Given the description of an element on the screen output the (x, y) to click on. 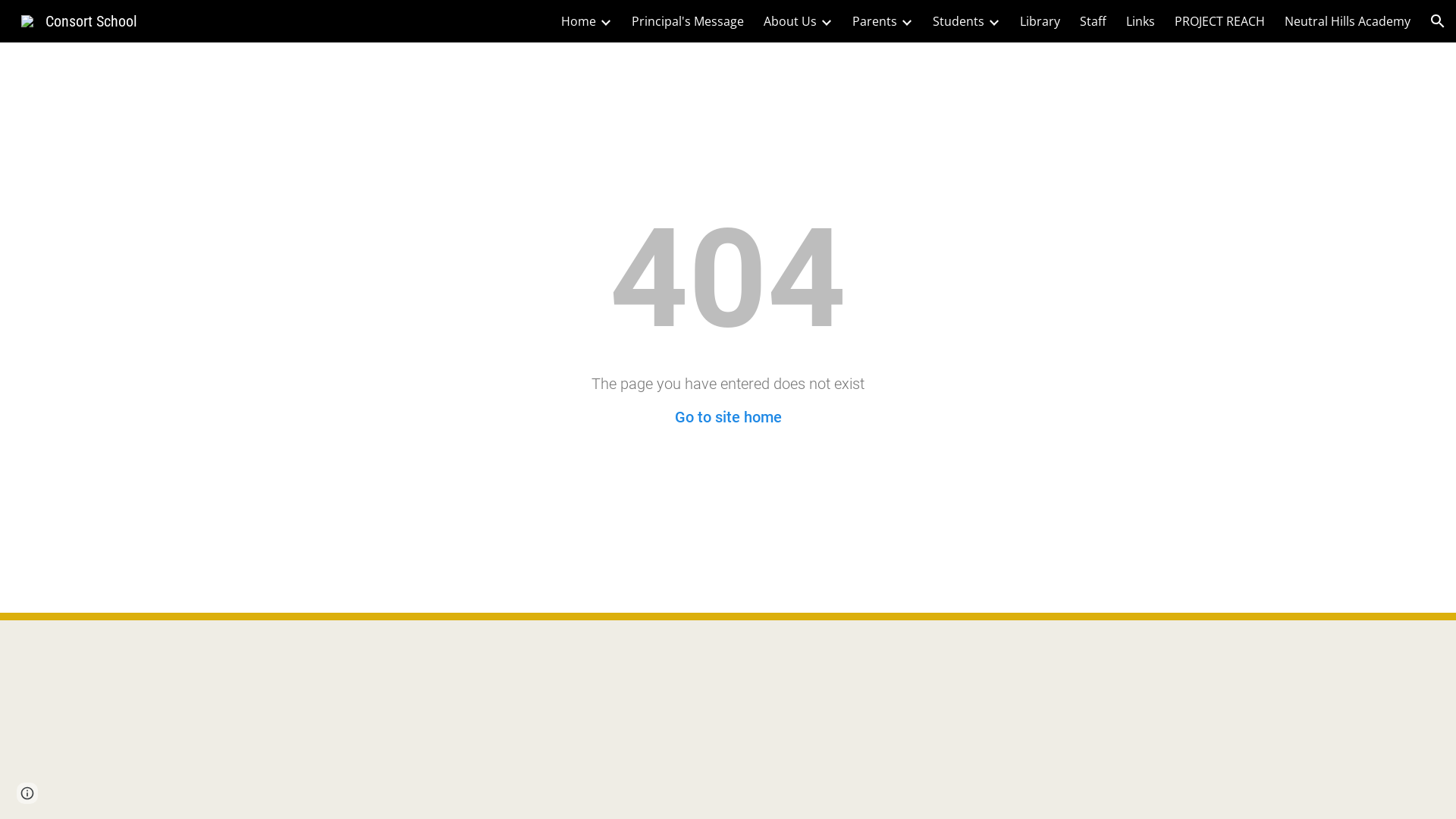
Links Element type: text (1140, 20)
Expand/Collapse Element type: hover (604, 20)
Parents Element type: text (874, 20)
Staff Element type: text (1092, 20)
Library Element type: text (1039, 20)
About Us Element type: text (789, 20)
Students Element type: text (958, 20)
Home Element type: text (578, 20)
Principal's Message Element type: text (687, 20)
Expand/Collapse Element type: hover (825, 20)
Expand/Collapse Element type: hover (906, 20)
Go to site home Element type: text (727, 416)
Consort School Element type: text (79, 19)
PROJECT REACH Element type: text (1219, 20)
Neutral Hills Academy Element type: text (1347, 20)
Expand/Collapse Element type: hover (993, 20)
